Given the description of an element on the screen output the (x, y) to click on. 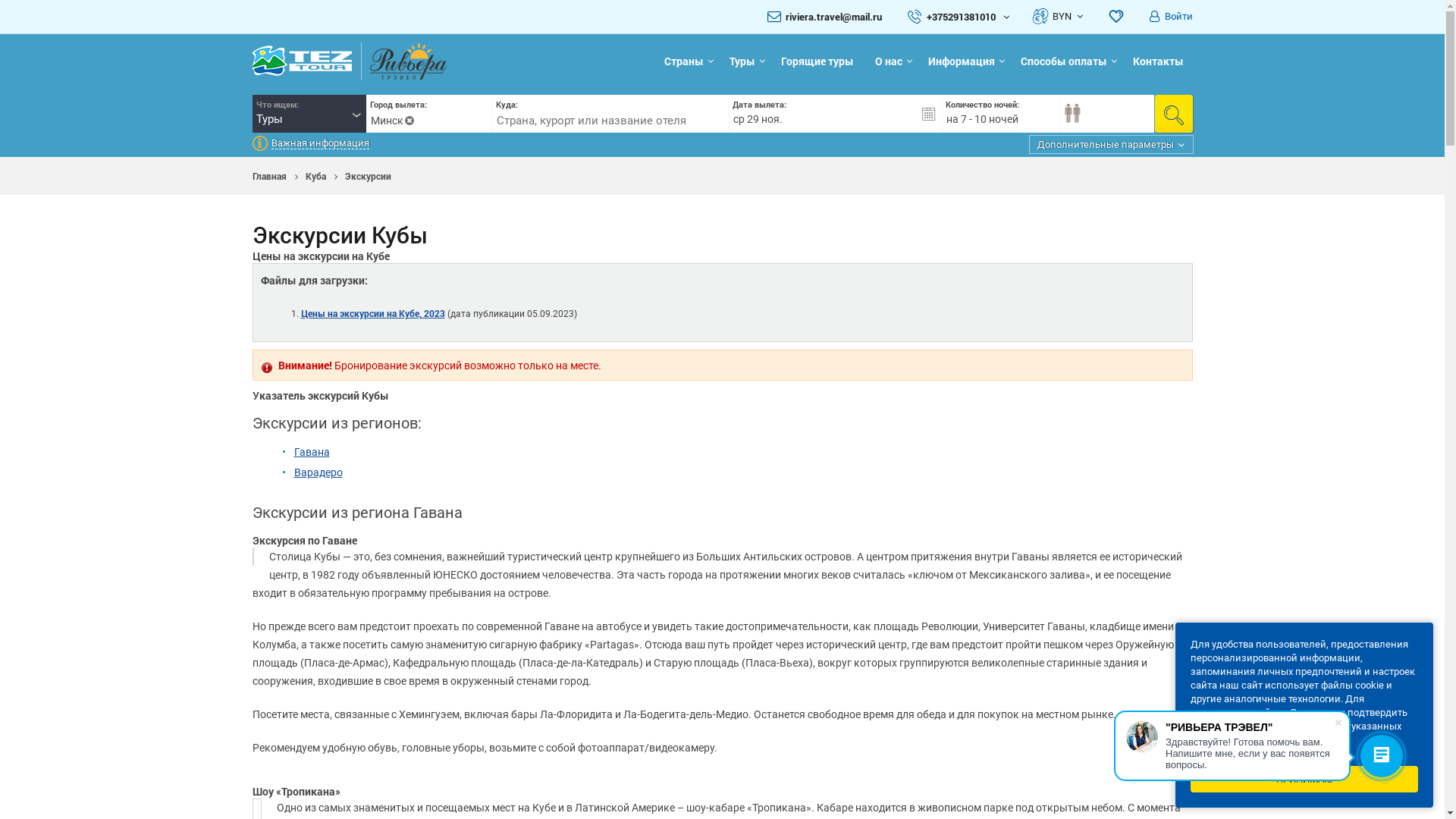
riviera.travel@mail.ru Element type: text (833, 16)
